Given the description of an element on the screen output the (x, y) to click on. 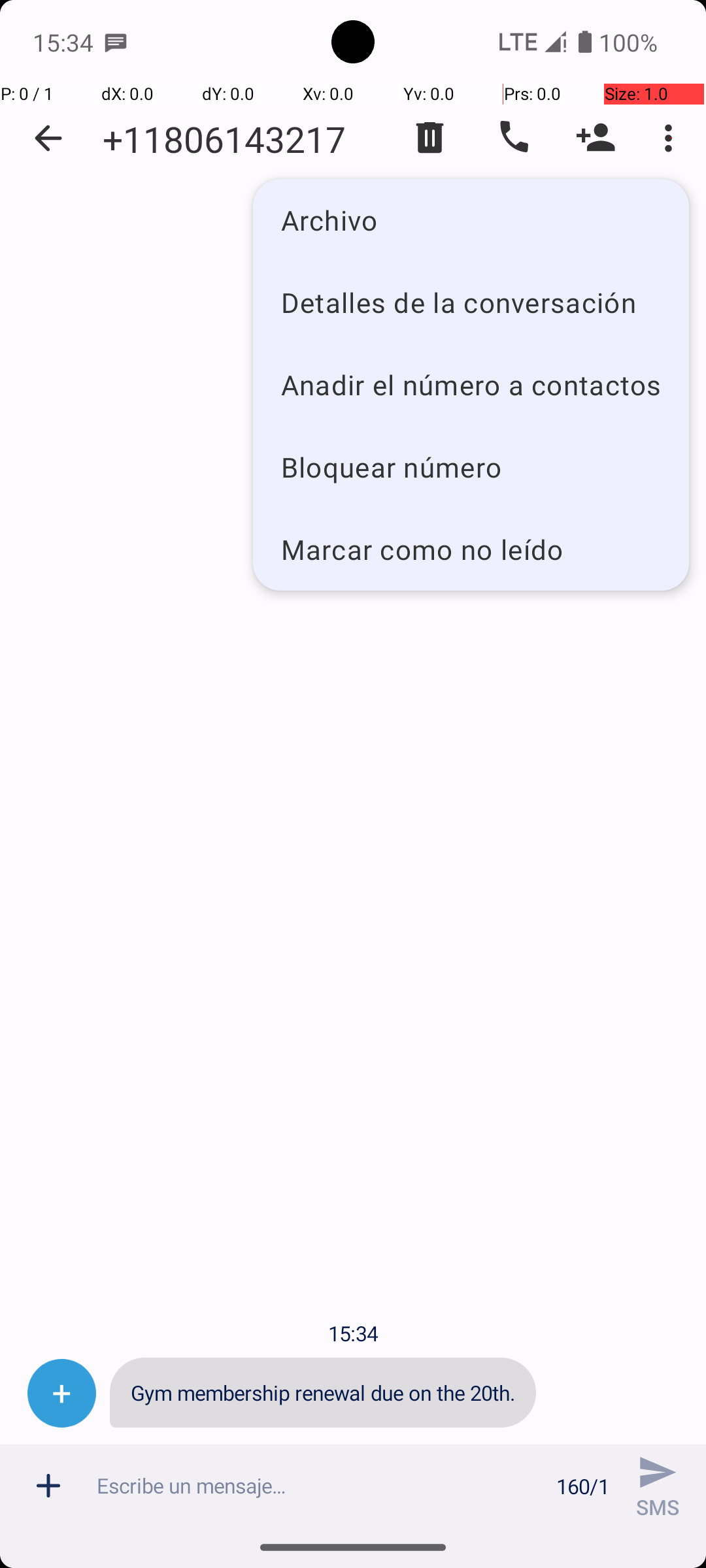
Archivo Element type: android.widget.TextView (470, 219)
Detalles de la conversación Element type: android.widget.TextView (470, 301)
Anadir el número a contactos Element type: android.widget.TextView (470, 384)
Bloquear número Element type: android.widget.TextView (470, 466)
Marcar como no leído Element type: android.widget.TextView (470, 548)
